Given the description of an element on the screen output the (x, y) to click on. 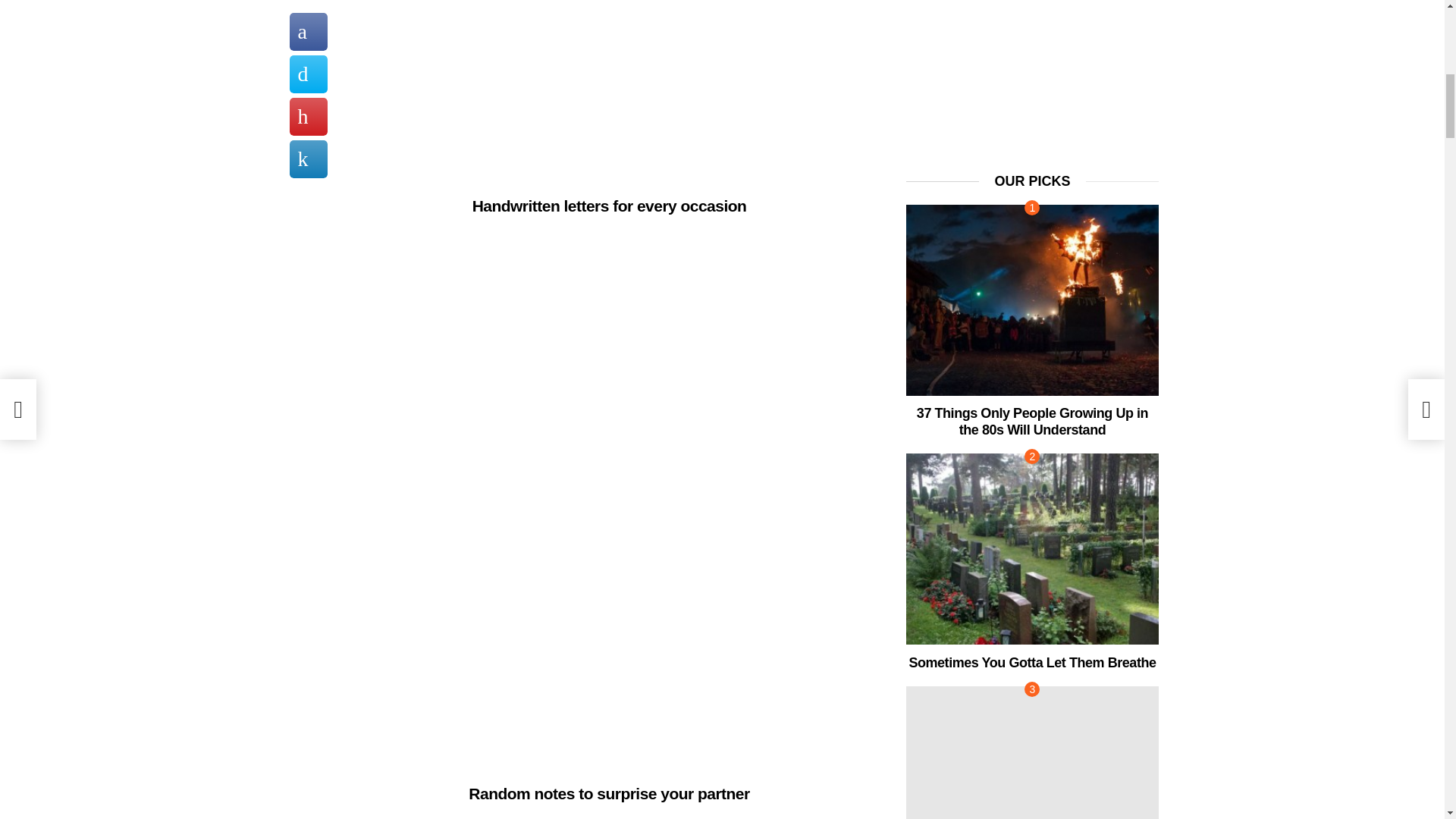
Share on LinkedIn (308, 127)
Share on Twitter (308, 43)
Share on Pinterest (308, 85)
Share on Facebook (308, 9)
Advertisement (609, 90)
